Given the description of an element on the screen output the (x, y) to click on. 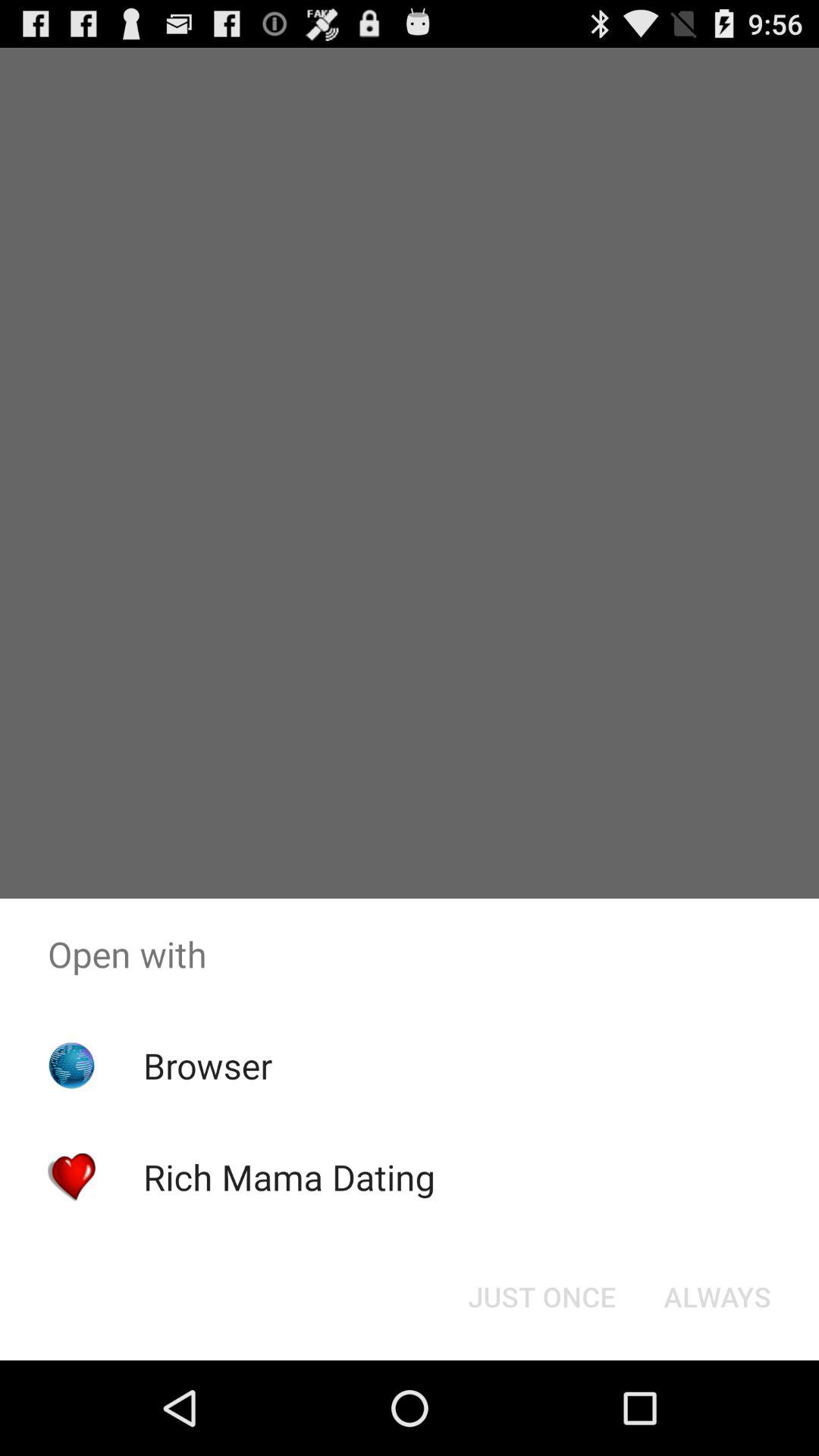
select the item below browser icon (289, 1176)
